Given the description of an element on the screen output the (x, y) to click on. 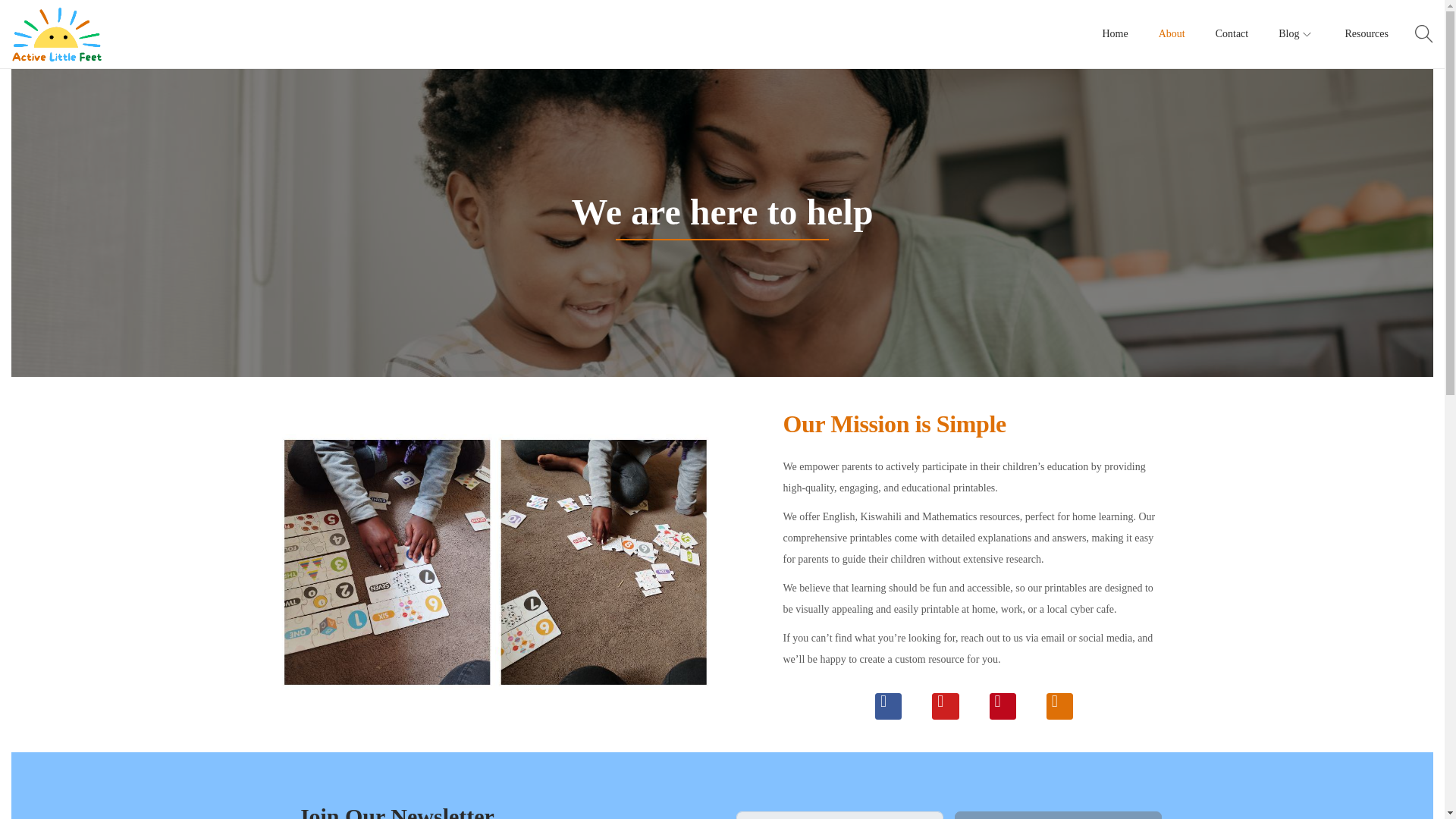
Resources (1366, 33)
Blog (1296, 33)
About (1171, 33)
Home (1114, 33)
Contact (1232, 33)
Subscribe (1058, 815)
